Given the description of an element on the screen output the (x, y) to click on. 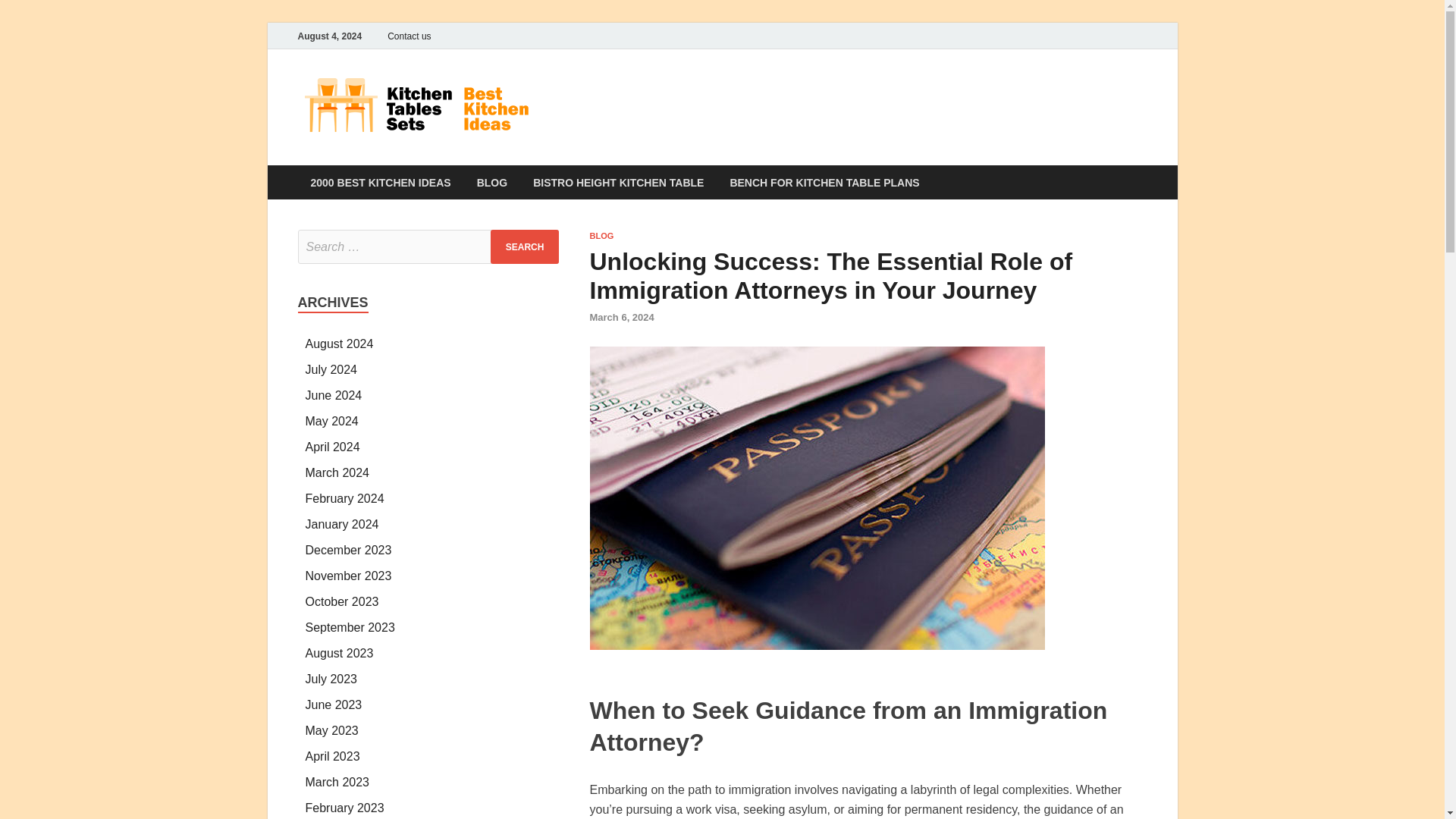
March 6, 2024 (621, 317)
May 2023 (331, 730)
Search (524, 246)
December 2023 (347, 549)
2000 BEST KITCHEN IDEAS (380, 182)
February 2024 (344, 498)
BISTRO HEIGHT KITCHEN TABLE (617, 182)
September 2023 (349, 626)
BENCH FOR KITCHEN TABLE PLANS (823, 182)
April 2023 (331, 756)
